Given the description of an element on the screen output the (x, y) to click on. 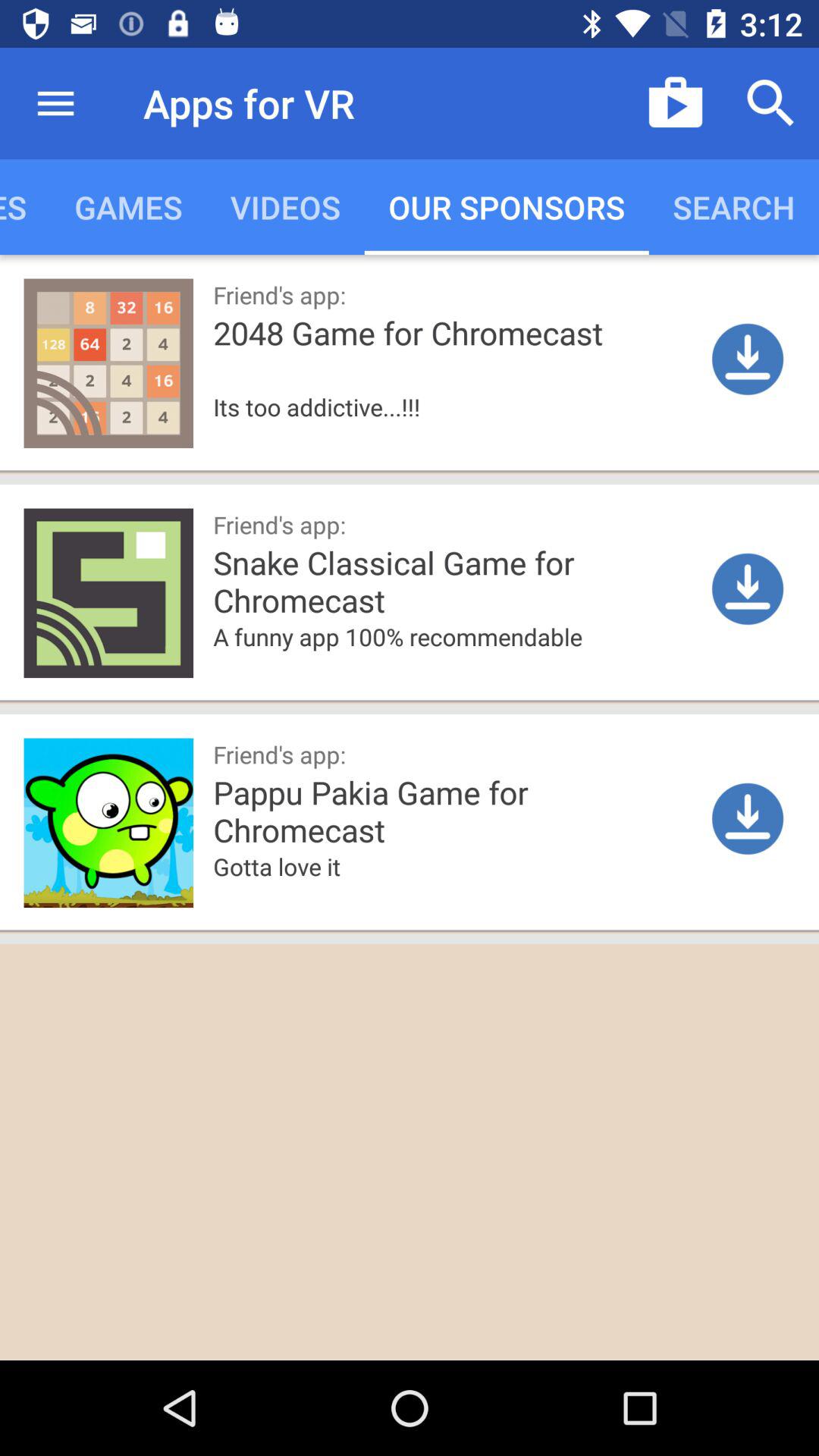
launch item to the left of the apps for vr (55, 103)
